Given the description of an element on the screen output the (x, y) to click on. 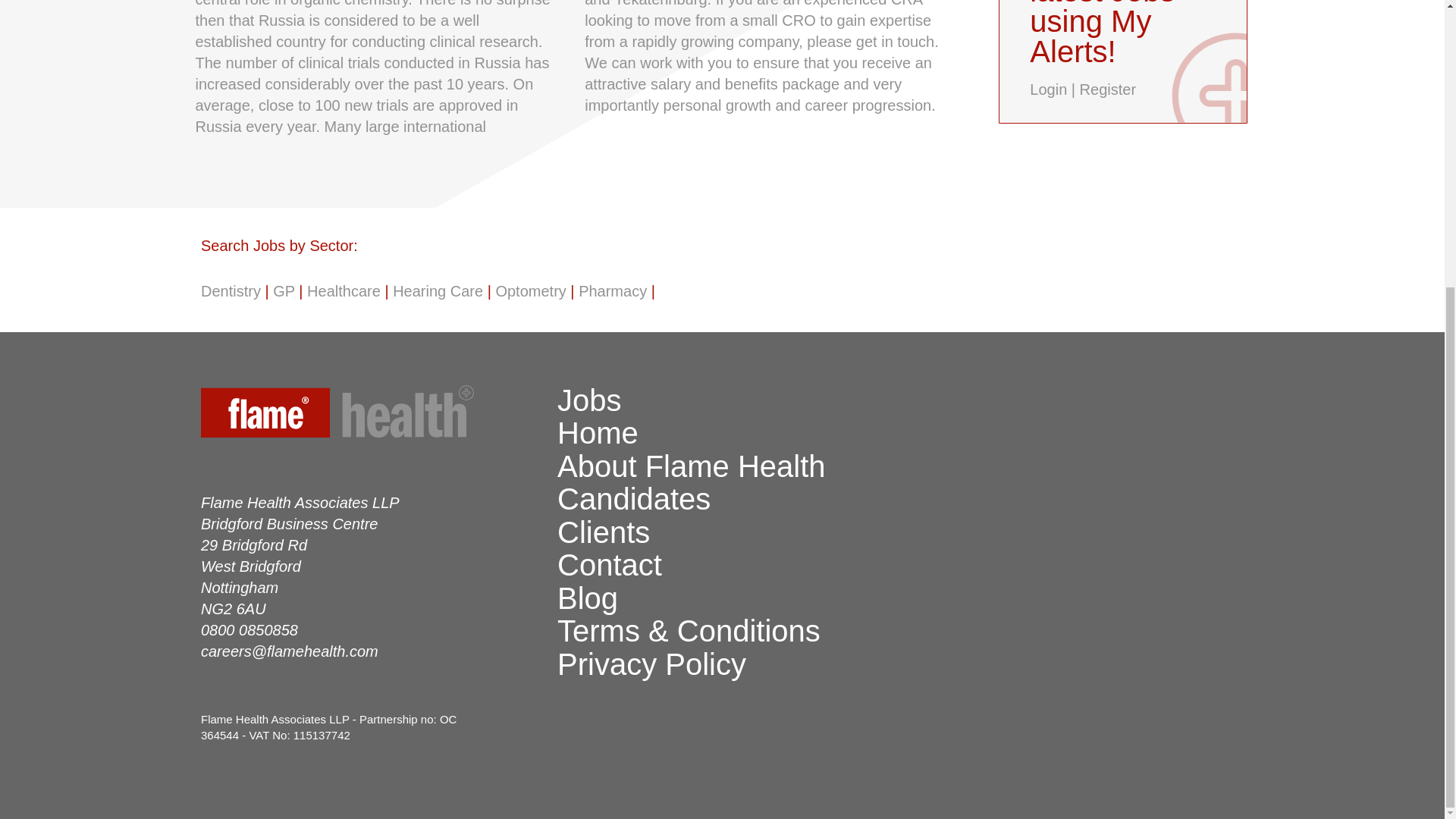
Home (598, 432)
GP (284, 290)
Healthcare (343, 290)
Optometry (530, 290)
Jobs (589, 400)
Dentistry (230, 290)
Pharmacy (612, 290)
Yekaterinburg (660, 3)
Hearing Care (438, 290)
Flame Health (370, 413)
